Given the description of an element on the screen output the (x, y) to click on. 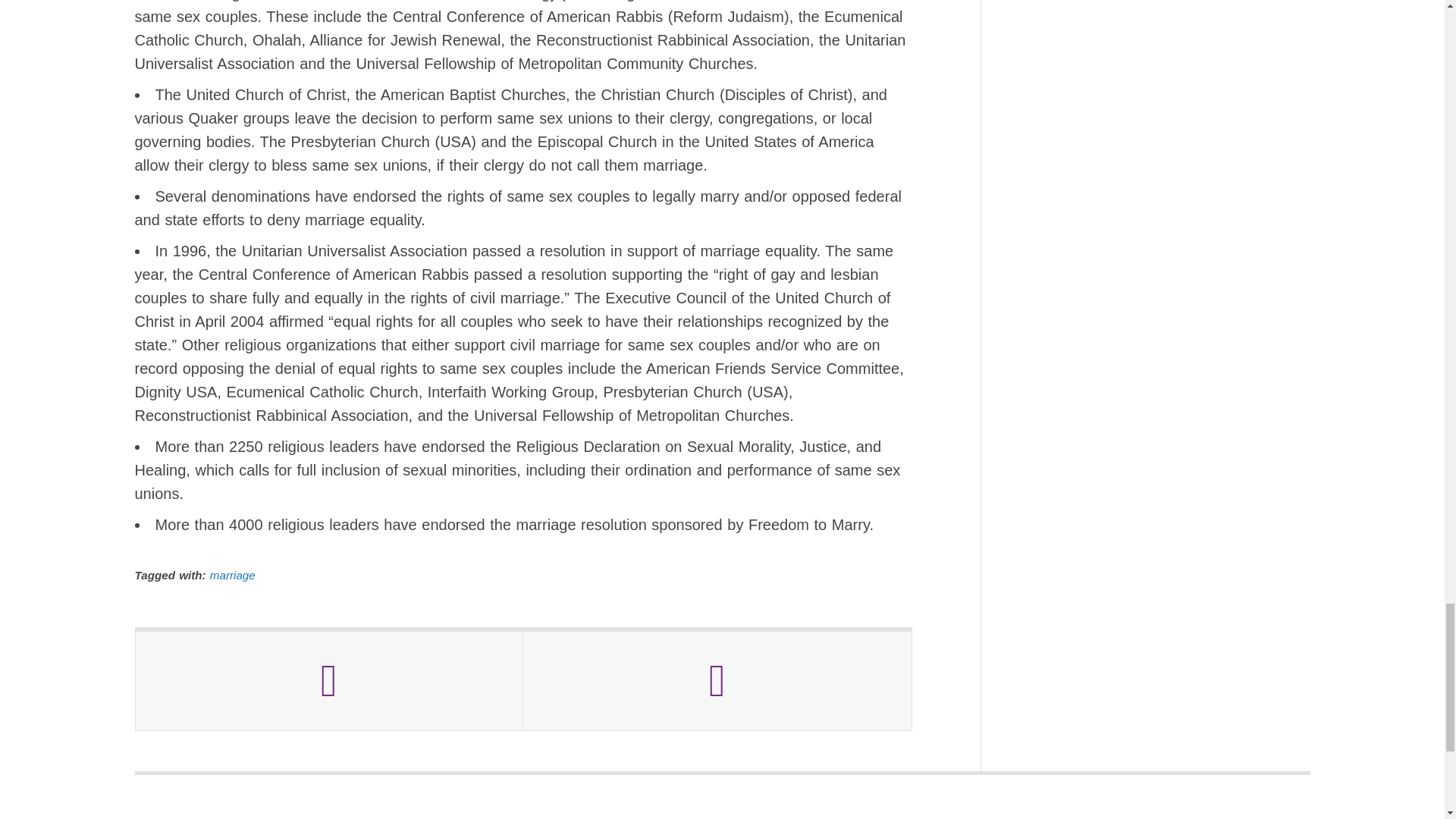
marriage (232, 574)
Previous Post (328, 680)
Next Post (716, 680)
